Given the description of an element on the screen output the (x, y) to click on. 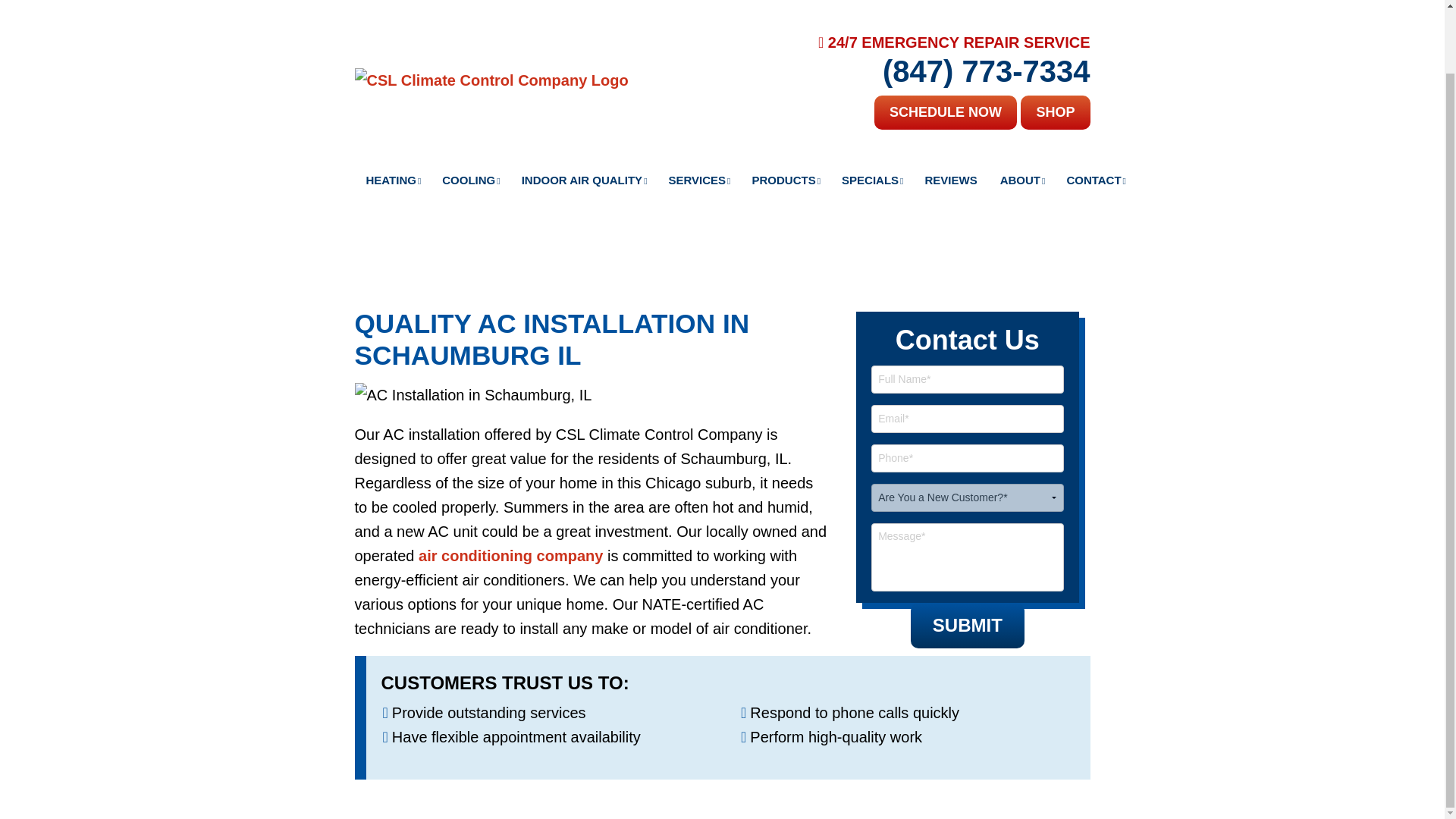
CSL Climate Control Company (491, 9)
PRODUCTS (784, 110)
SPECIALS (870, 110)
INDOOR AIR QUALITY (584, 110)
HEATING (392, 110)
SHOP (1054, 42)
Submit (968, 625)
SERVICES (699, 110)
COOLING (469, 110)
SCHEDULE NOW (945, 42)
REVIEWS (950, 110)
